Given the description of an element on the screen output the (x, y) to click on. 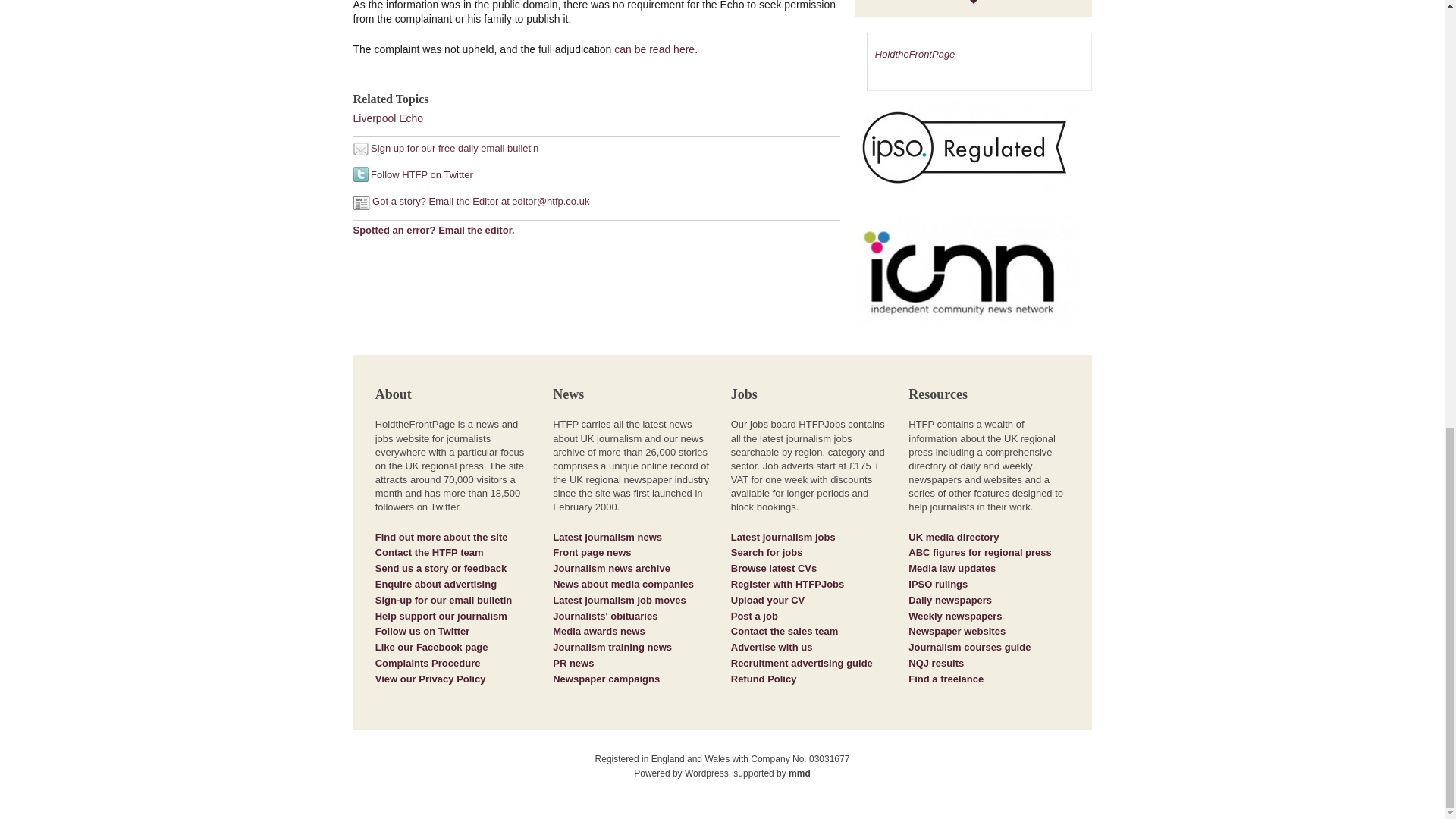
Contact the HTFP team (429, 552)
Enquire about advertising with us (435, 583)
Independent Press Standards Organisation (965, 146)
Like our Facebook page (431, 646)
Independent Community News Network (974, 277)
Independent Press Standards Organisation (974, 153)
Send us a story or feedback (440, 568)
Independent Community News Network (965, 270)
Find out more about the site (441, 536)
Sign-up for our email bulletin (443, 600)
Donations page (440, 615)
Follow us on Twitter (422, 631)
